Given the description of an element on the screen output the (x, y) to click on. 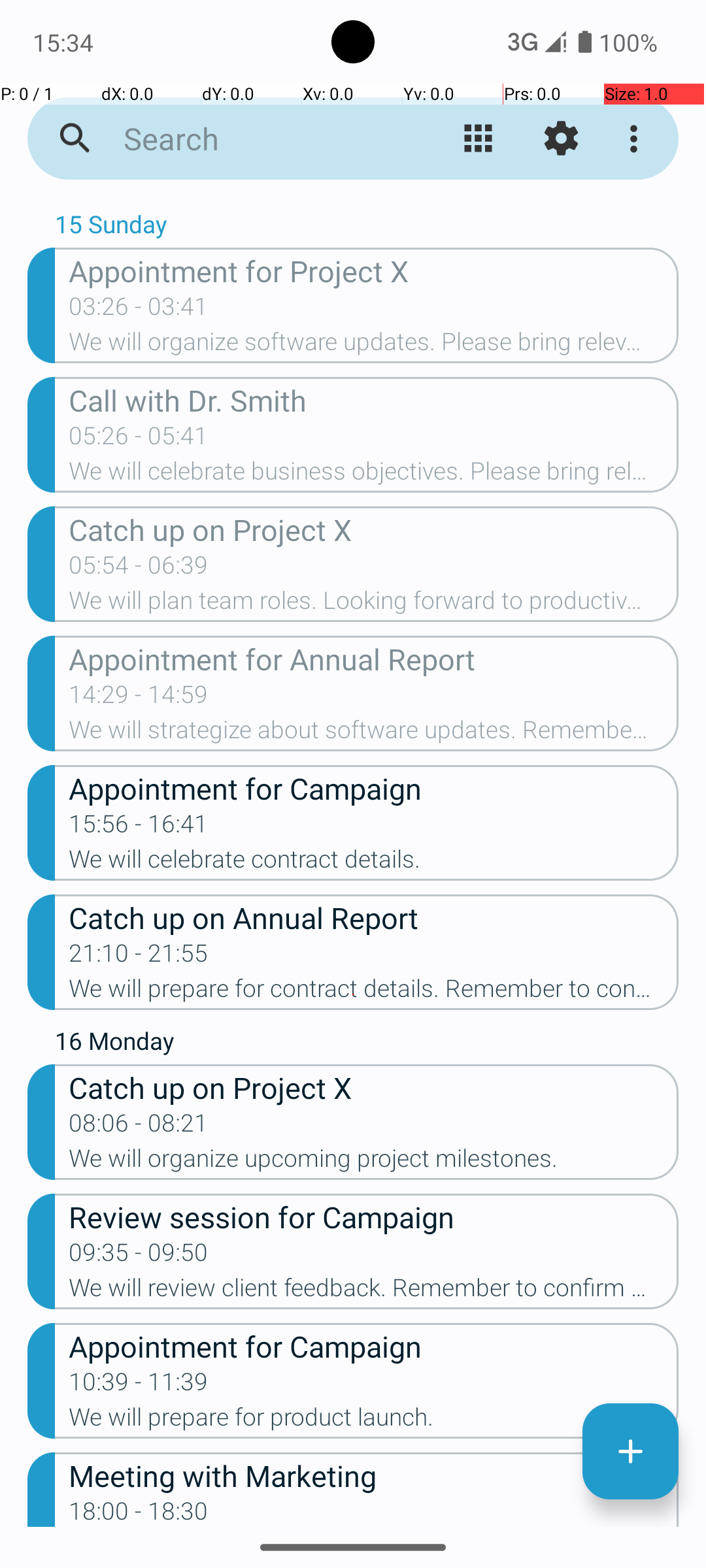
15 Sunday Element type: android.widget.TextView (366, 227)
16 Monday Element type: android.widget.TextView (366, 1043)
Appointment for Project X Element type: android.widget.TextView (373, 269)
03:26 - 03:41 Element type: android.widget.TextView (137, 309)
We will organize software updates. Please bring relevant documents. Element type: android.widget.TextView (373, 345)
Call with Dr. Smith Element type: android.widget.TextView (373, 399)
05:26 - 05:41 Element type: android.widget.TextView (137, 439)
We will celebrate business objectives. Please bring relevant documents. Element type: android.widget.TextView (373, 474)
Catch up on Project X Element type: android.widget.TextView (373, 528)
05:54 - 06:39 Element type: android.widget.TextView (137, 568)
We will plan team roles. Looking forward to productive discussions. Element type: android.widget.TextView (373, 603)
Appointment for Annual Report Element type: android.widget.TextView (373, 657)
14:29 - 14:59 Element type: android.widget.TextView (137, 698)
We will strategize about software updates. Remember to confirm attendance. Element type: android.widget.TextView (373, 733)
Appointment for Campaign Element type: android.widget.TextView (373, 787)
15:56 - 16:41 Element type: android.widget.TextView (137, 827)
We will celebrate contract details. Element type: android.widget.TextView (373, 862)
21:10 - 21:55 Element type: android.widget.TextView (137, 956)
We will prepare for contract details. Remember to confirm attendance. Element type: android.widget.TextView (373, 992)
08:06 - 08:21 Element type: android.widget.TextView (137, 1126)
We will organize upcoming project milestones. Element type: android.widget.TextView (373, 1161)
Review session for Campaign Element type: android.widget.TextView (373, 1215)
09:35 - 09:50 Element type: android.widget.TextView (137, 1256)
We will review client feedback. Remember to confirm attendance. Element type: android.widget.TextView (373, 1291)
10:39 - 11:39 Element type: android.widget.TextView (137, 1385)
We will prepare for product launch. Element type: android.widget.TextView (373, 1420)
Meeting with Marketing Element type: android.widget.TextView (373, 1474)
18:00 - 18:30 Element type: android.widget.TextView (137, 1511)
